Given the description of an element on the screen output the (x, y) to click on. 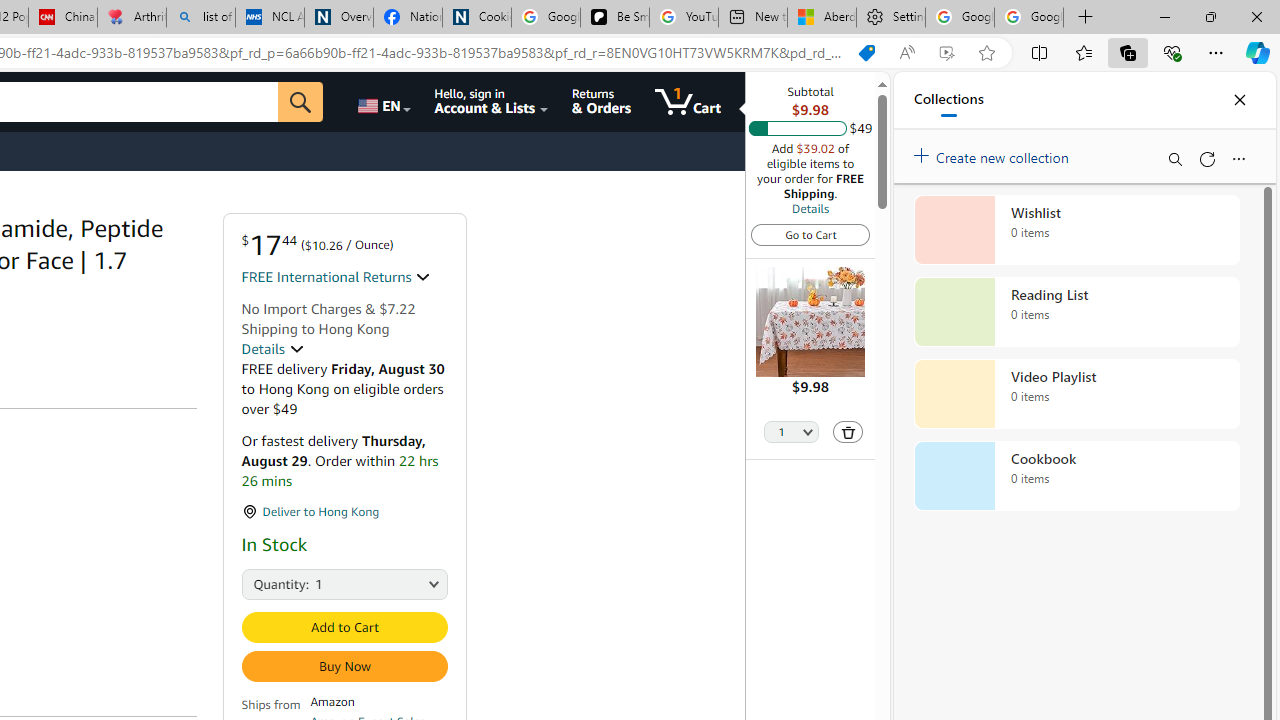
Buy Now (343, 666)
Quantity: (263, 582)
Arthritis: Ask Health Professionals (132, 17)
Create new collection (994, 153)
FREE International Returns  (336, 277)
Be Smart | creating Science videos | Patreon (614, 17)
More options menu (1238, 158)
Enhance video (946, 53)
Returns & Orders (601, 101)
Aberdeen, Hong Kong SAR hourly forecast | Microsoft Weather (822, 17)
list of asthma inhalers uk - Search (200, 17)
